Given the description of an element on the screen output the (x, y) to click on. 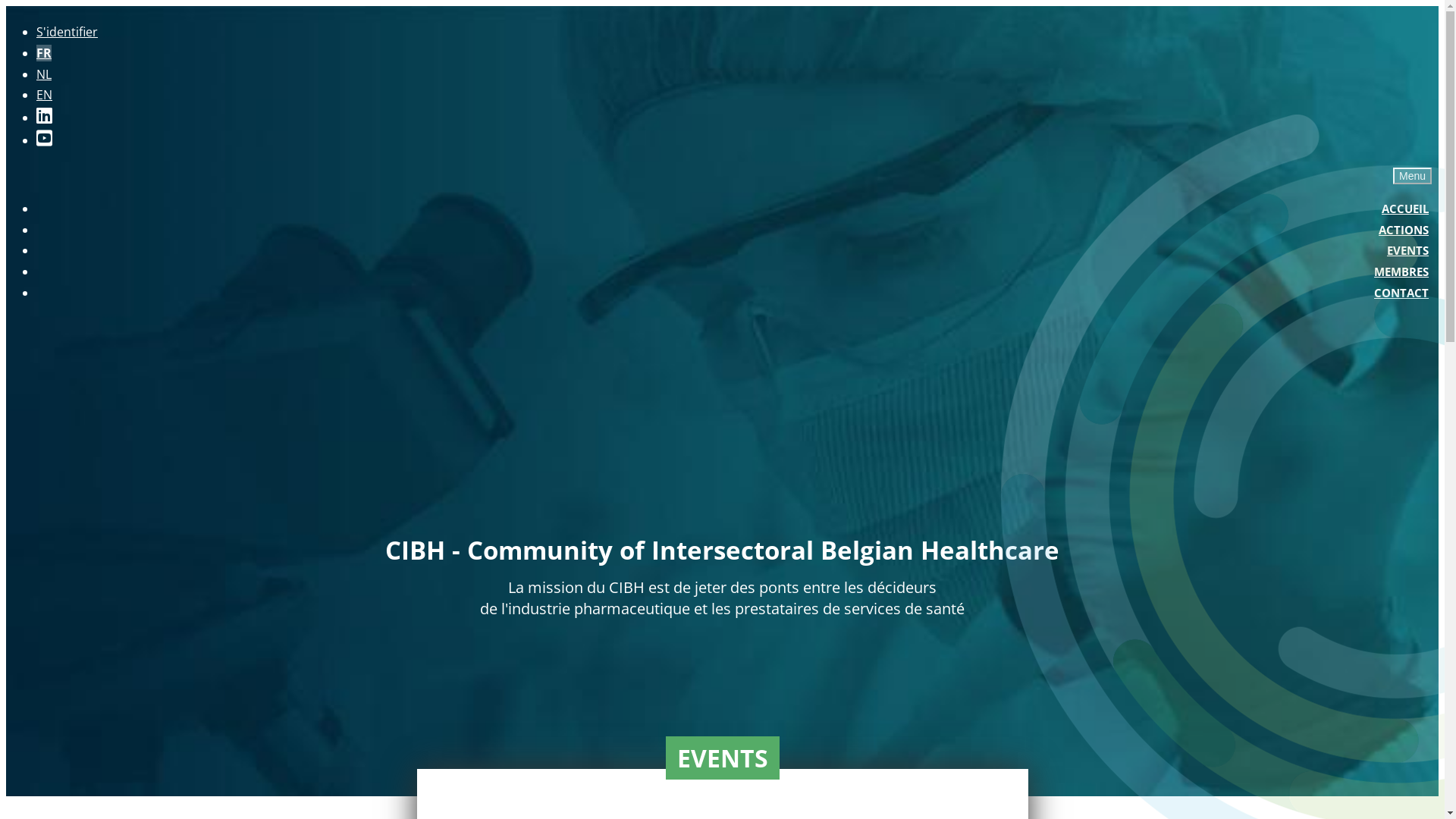
ACCUEIL Element type: text (1404, 208)
S'identifier Element type: text (66, 31)
ACTIONS Element type: text (1403, 229)
EVENTS Element type: text (1407, 249)
FR Element type: text (43, 52)
CONTACT Element type: text (1401, 292)
MEMBRES Element type: text (1401, 271)
Menu Element type: text (1412, 175)
NL Element type: text (43, 73)
EN Element type: text (44, 94)
